Given the description of an element on the screen output the (x, y) to click on. 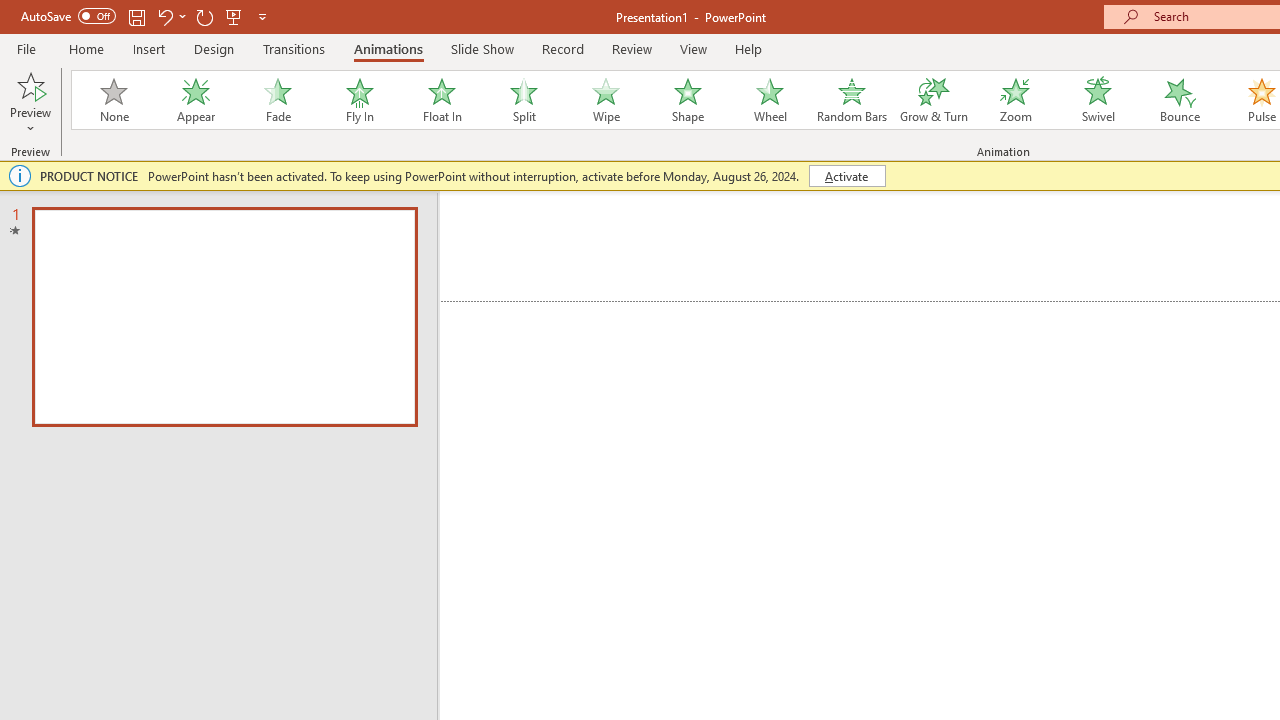
Fly In (359, 100)
Fade (277, 100)
Wheel (770, 100)
Activate (846, 175)
Random Bars (852, 100)
Preview (30, 102)
